Given the description of an element on the screen output the (x, y) to click on. 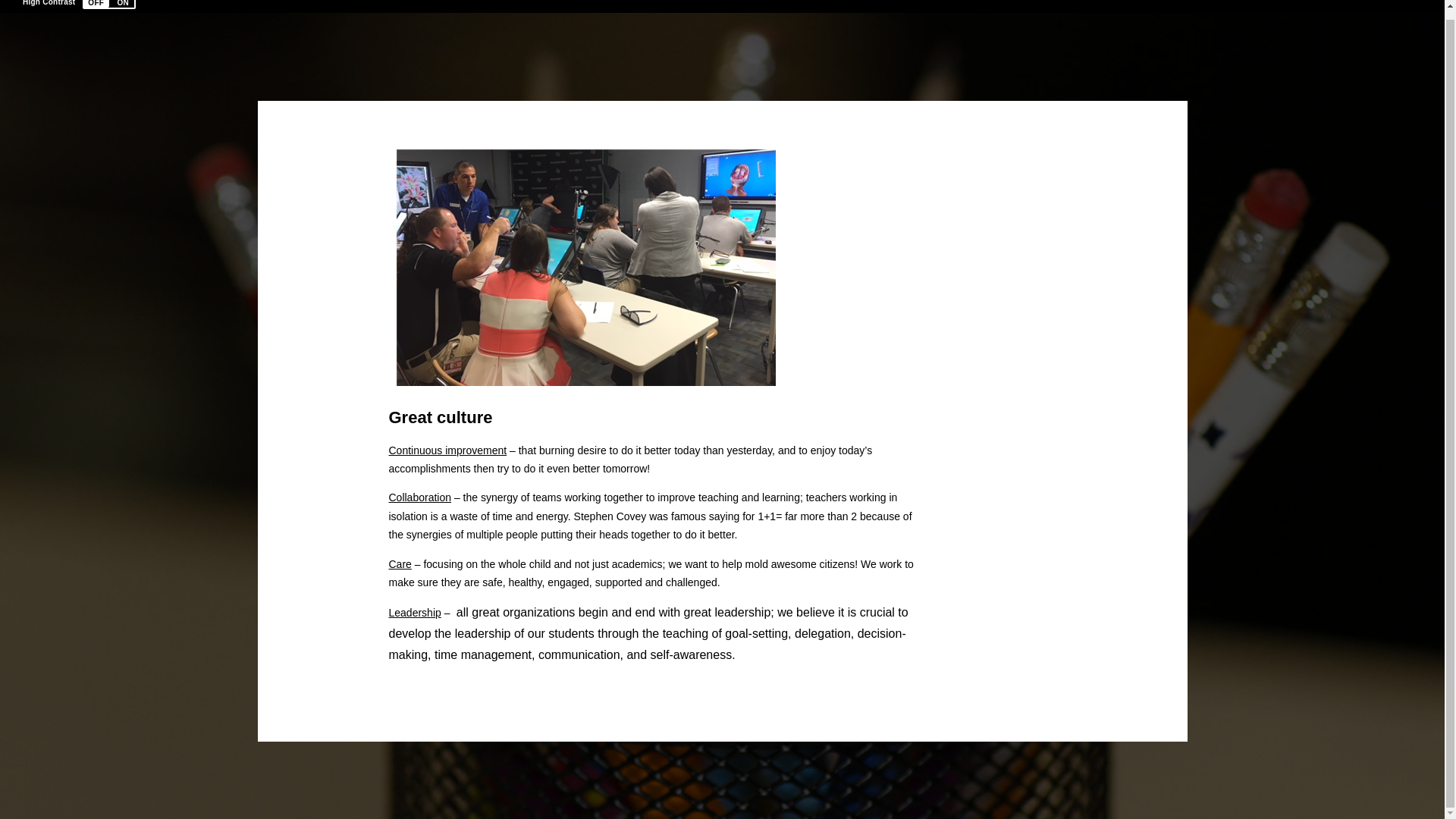
Innovation Lab (585, 267)
